Given the description of an element on the screen output the (x, y) to click on. 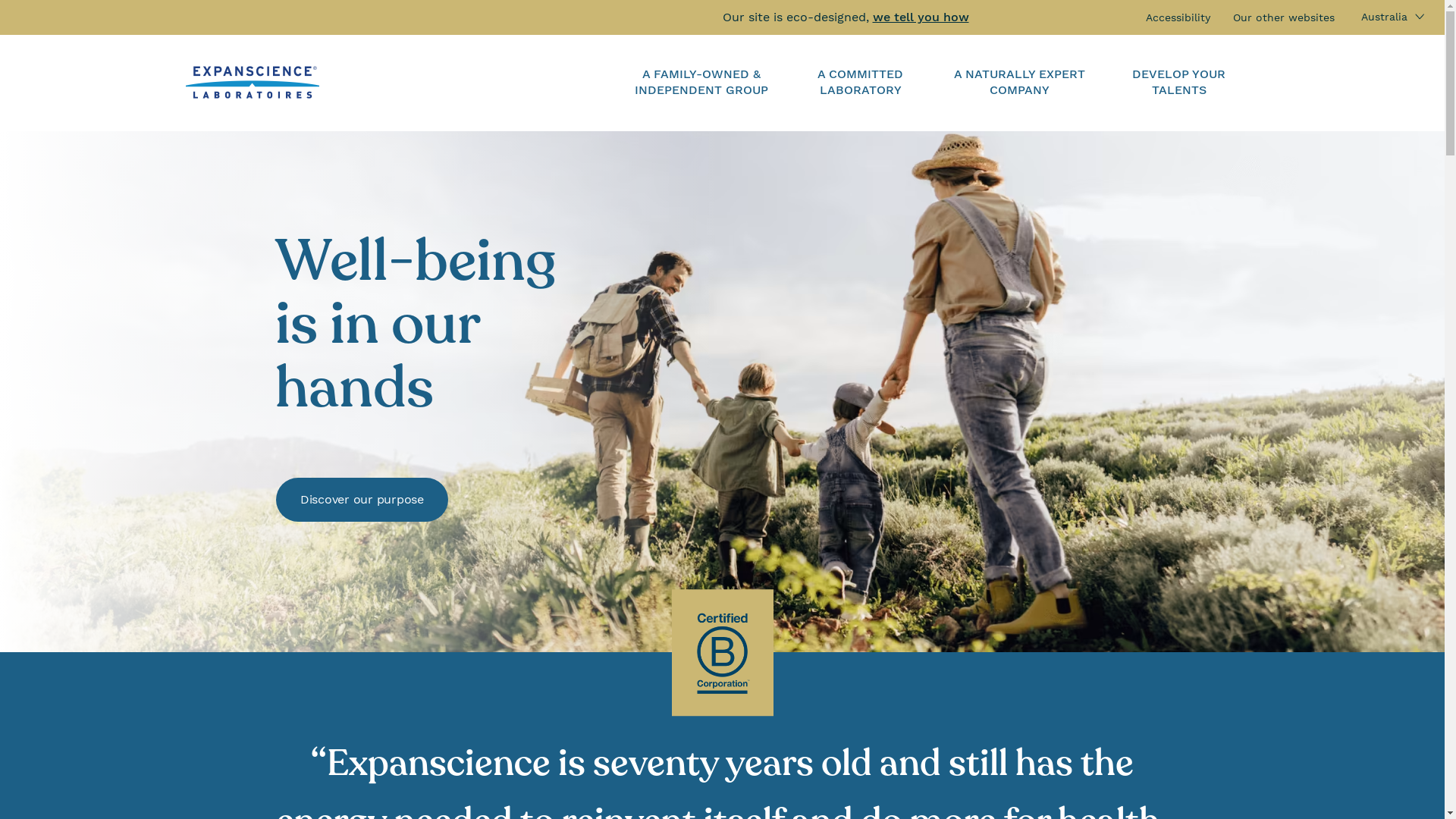
DEVELOP YOUR TALENTS Element type: text (1178, 82)
Accessibility Element type: text (1177, 16)
A COMMITTED LABORATORY Element type: text (860, 82)
Home Element type: text (252, 81)
A NATURALLY EXPERT COMPANY Element type: text (1019, 82)
Our other websites Element type: text (1283, 16)
Discover our purpose Element type: text (361, 499)
we tell you how Element type: text (920, 16)
A FAMILY-OWNED & INDEPENDENT GROUP Element type: text (701, 82)
